Given the description of an element on the screen output the (x, y) to click on. 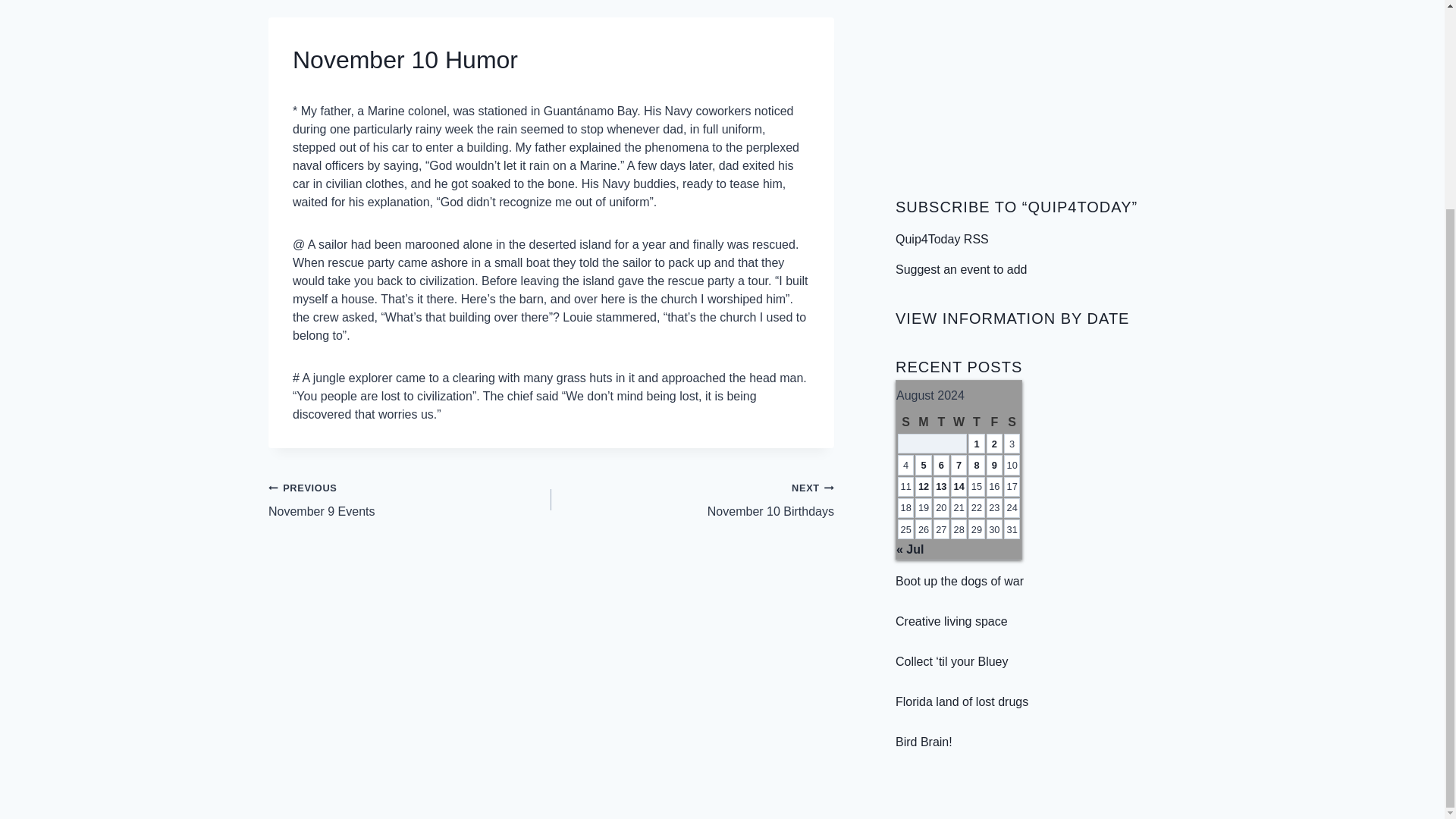
Bird Brain! (923, 741)
Creative living space (951, 621)
12 (923, 486)
Boot up the dogs of war (692, 499)
14 (959, 581)
Florida land of lost drugs (958, 486)
13 (961, 701)
Suggest an event to add (941, 486)
